Given the description of an element on the screen output the (x, y) to click on. 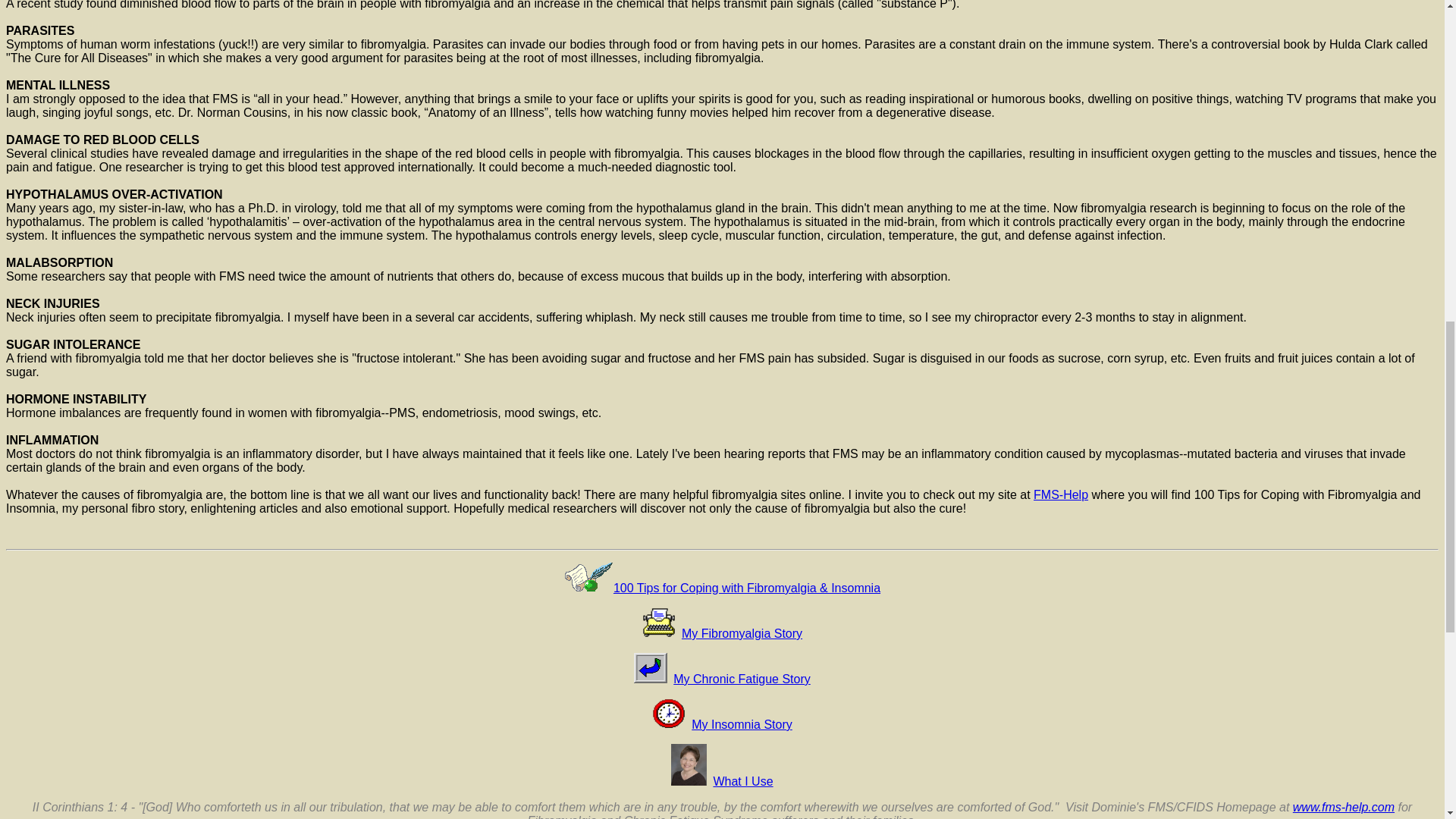
My Fibromyalgia Story (741, 633)
My Chronic Fatigue Story (741, 678)
www.fms-help.com (1343, 807)
My Insomnia Story (741, 724)
FMS-Help (1060, 494)
What I Use (743, 780)
